Given the description of an element on the screen output the (x, y) to click on. 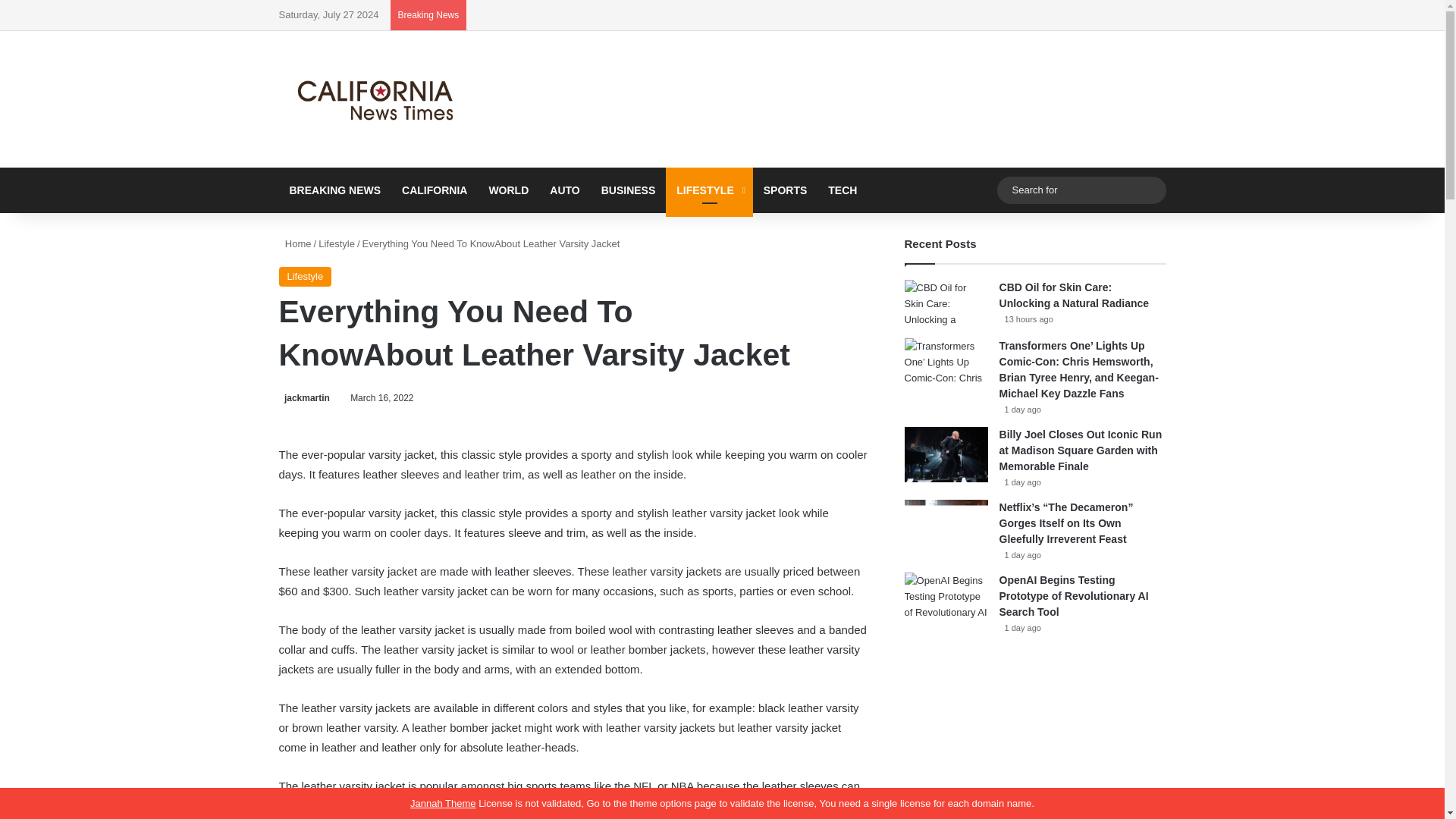
Californianewstimes.com (377, 99)
BUSINESS (628, 189)
Jannah Theme (443, 803)
Lifestyle (305, 276)
BREAKING NEWS (335, 189)
WORLD (507, 189)
jackmartin (304, 398)
LIFESTYLE (708, 189)
SPORTS (785, 189)
TECH (841, 189)
Search for (1080, 189)
Lifestyle (336, 243)
jackmartin (304, 398)
CALIFORNIA (434, 189)
Search for (1150, 189)
